Given the description of an element on the screen output the (x, y) to click on. 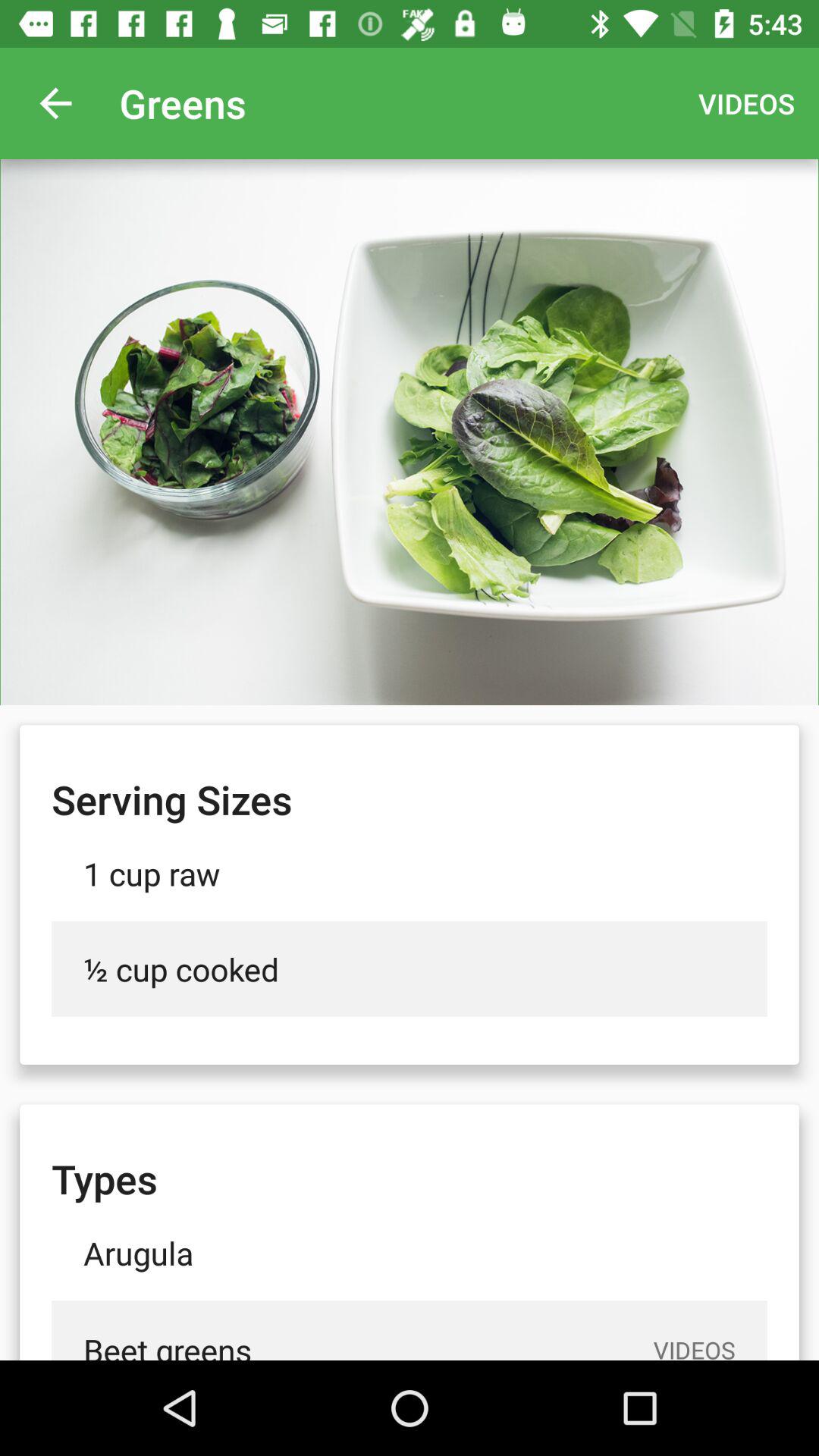
turn on the icon to the left of the greens item (55, 103)
